Given the description of an element on the screen output the (x, y) to click on. 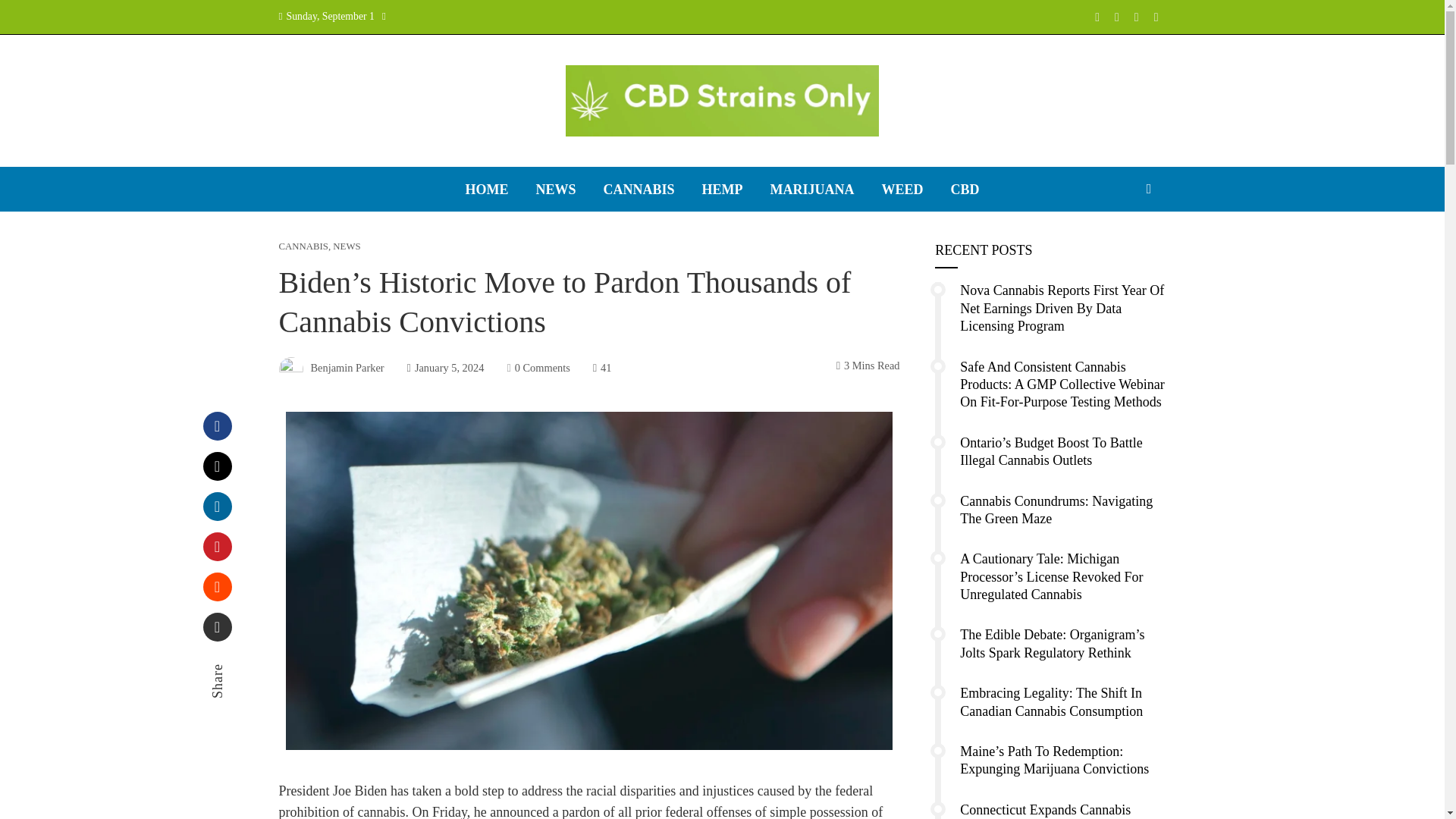
Twitter (217, 466)
MARIJUANA (811, 188)
Facebook (217, 425)
LinkedIn (217, 506)
Stumbleupon (217, 586)
NEWS (555, 188)
HOME (485, 188)
Email (217, 626)
HEMP (722, 188)
CANNABIS (638, 188)
